Given the description of an element on the screen output the (x, y) to click on. 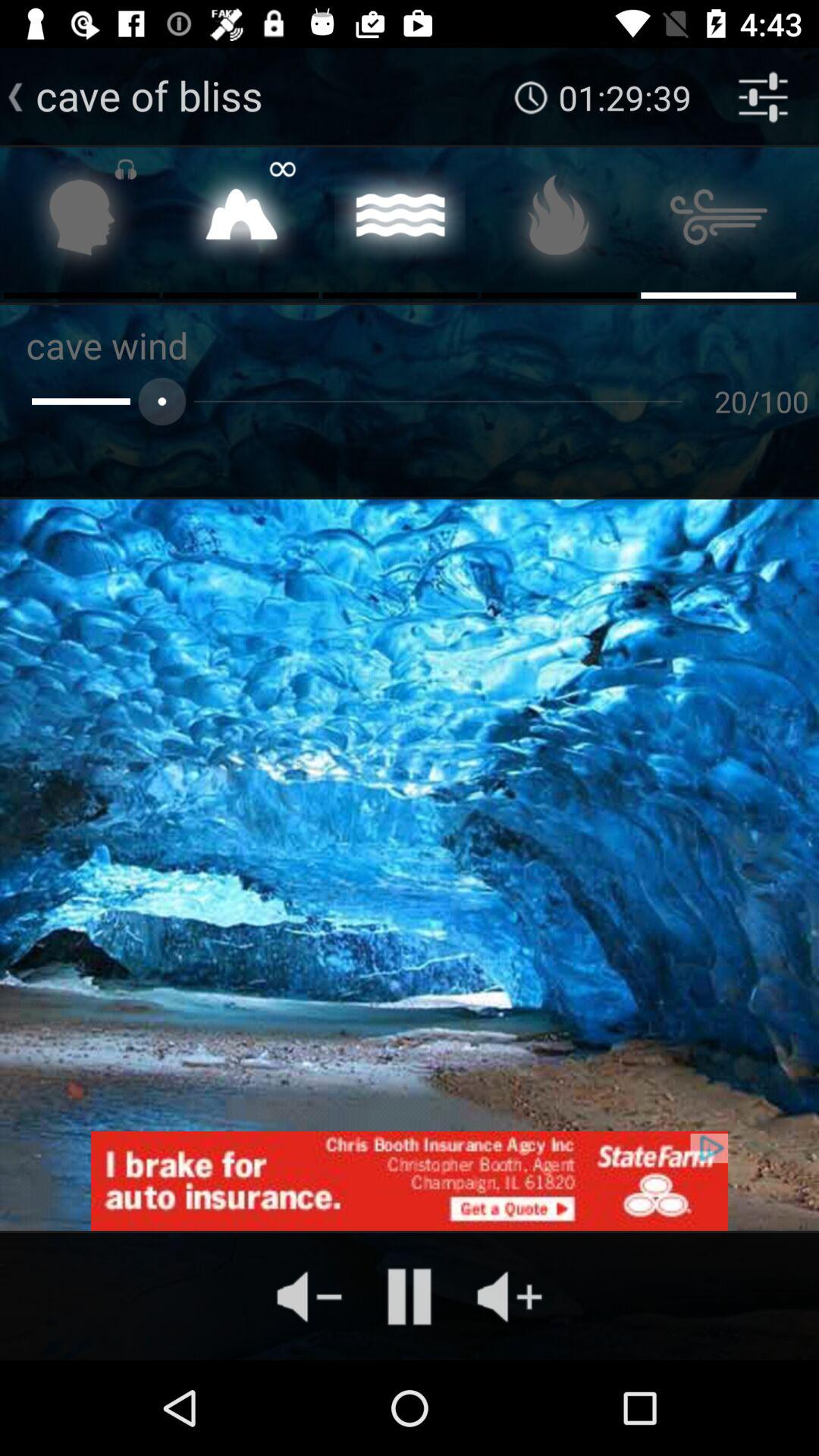
icon page (240, 221)
